Given the description of an element on the screen output the (x, y) to click on. 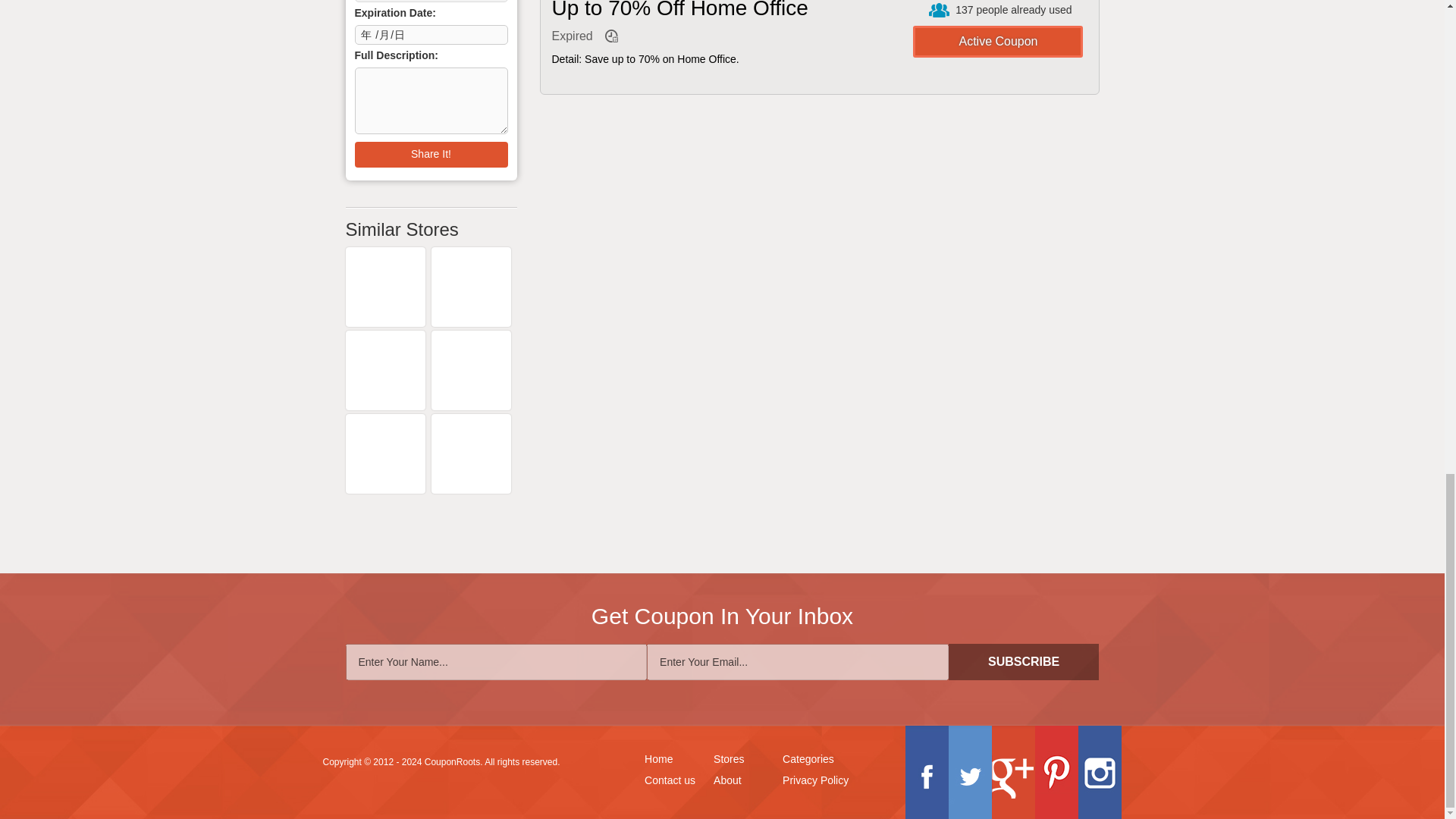
Privacy Policy (815, 780)
Subscribe (1024, 661)
About (727, 780)
Contact us (670, 780)
Subscribe (1024, 661)
Share It! (431, 154)
Home (658, 759)
Stores (728, 759)
Categories (808, 759)
